Given the description of an element on the screen output the (x, y) to click on. 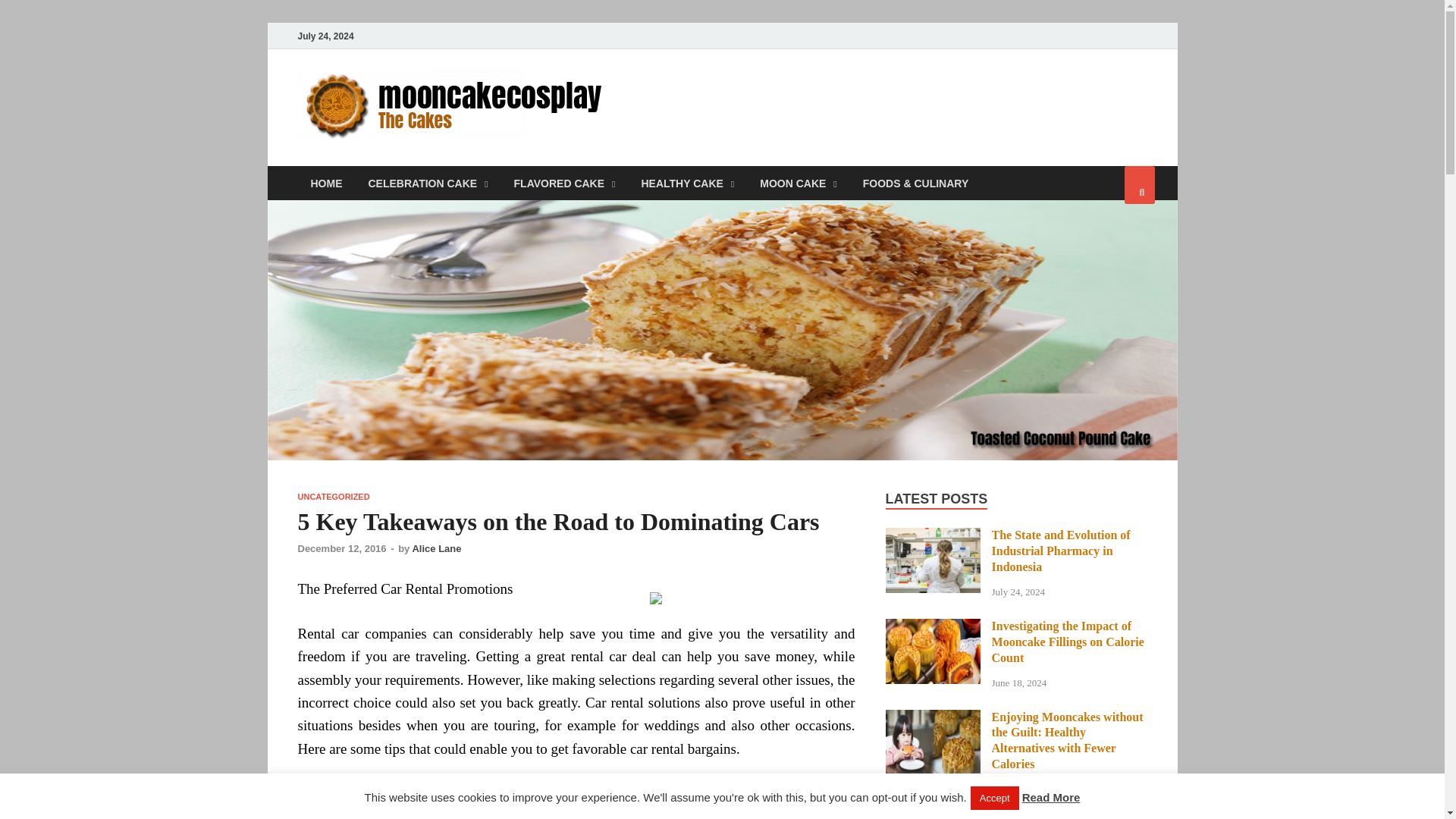
The State and Evolution of Industrial Pharmacy in Indonesia (932, 535)
FLAVORED CAKE (564, 182)
HEALTHY CAKE (686, 182)
HOME (326, 182)
CELEBRATION CAKE (427, 182)
MOON CAKE (798, 182)
